Given the description of an element on the screen output the (x, y) to click on. 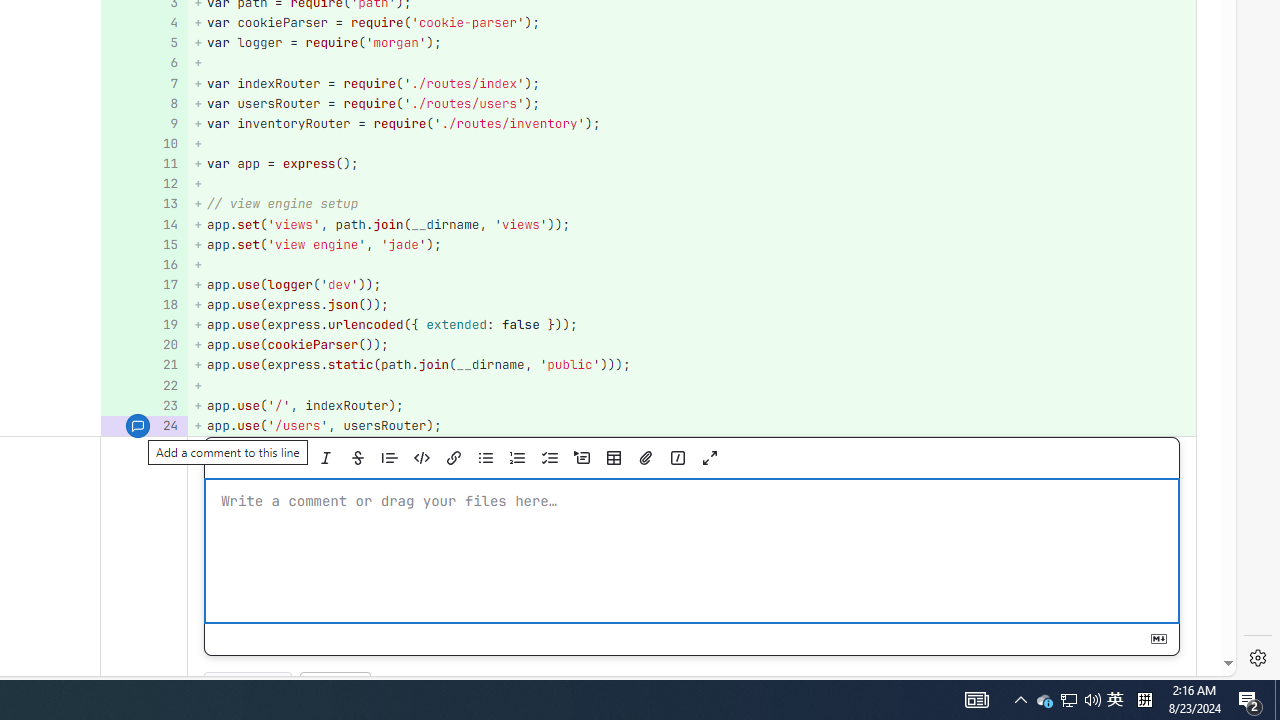
+ app.set('views', path.join(__dirname, 'views'));  (691, 223)
+ var usersRouter = require('./routes/users');  (691, 102)
24 (141, 425)
10 (141, 143)
+ app.use(cookieParser());  (691, 344)
Add a comment to this line 22 (144, 385)
6 (141, 63)
+ var logger = require('morgan');  (691, 43)
Add a comment to this line 6 (144, 63)
Go full screen (709, 457)
19 (141, 325)
Add a comment to this line 4 (144, 22)
Add a table (613, 457)
